Given the description of an element on the screen output the (x, y) to click on. 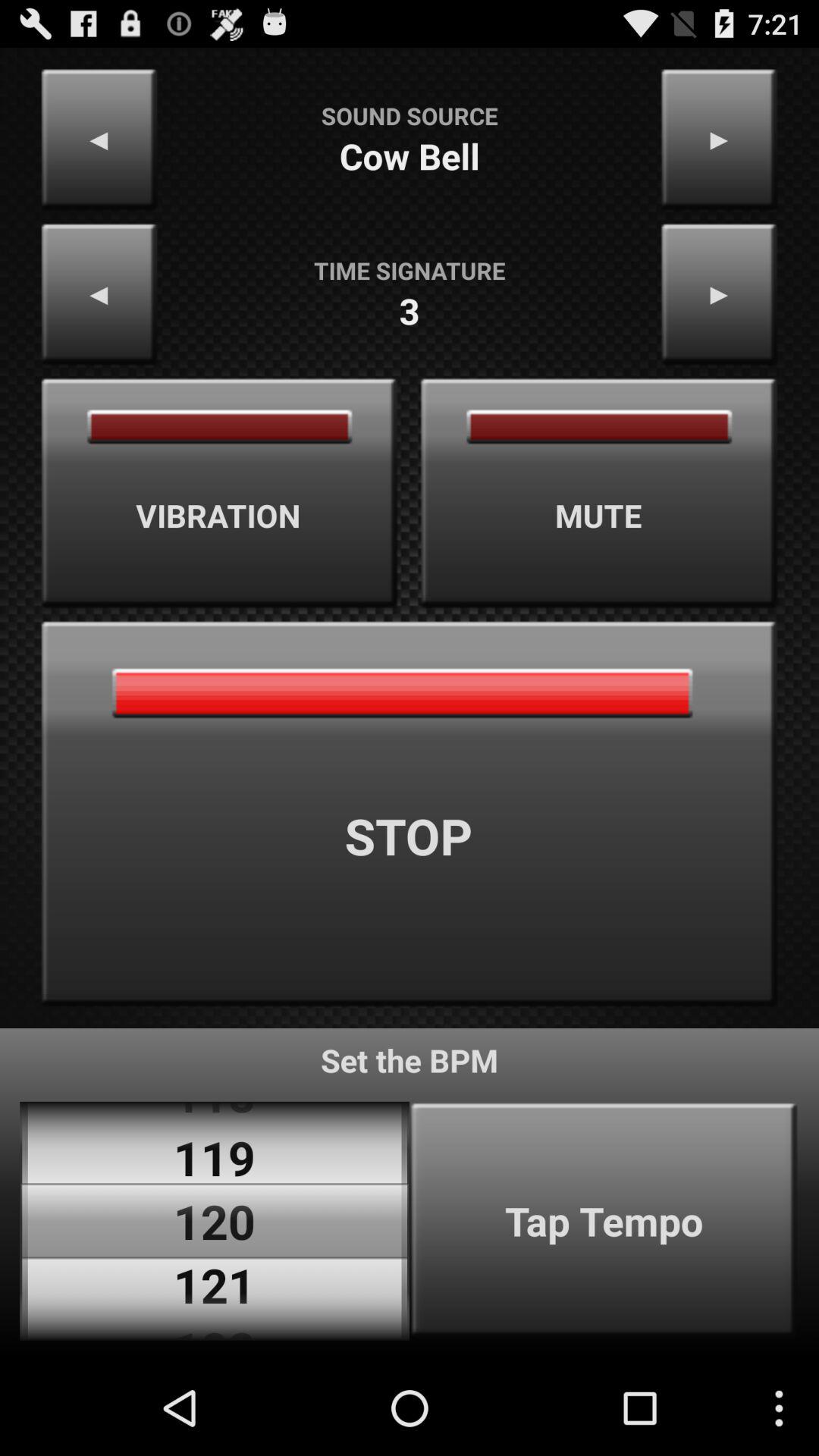
turn off icon next to the mute (219, 493)
